Given the description of an element on the screen output the (x, y) to click on. 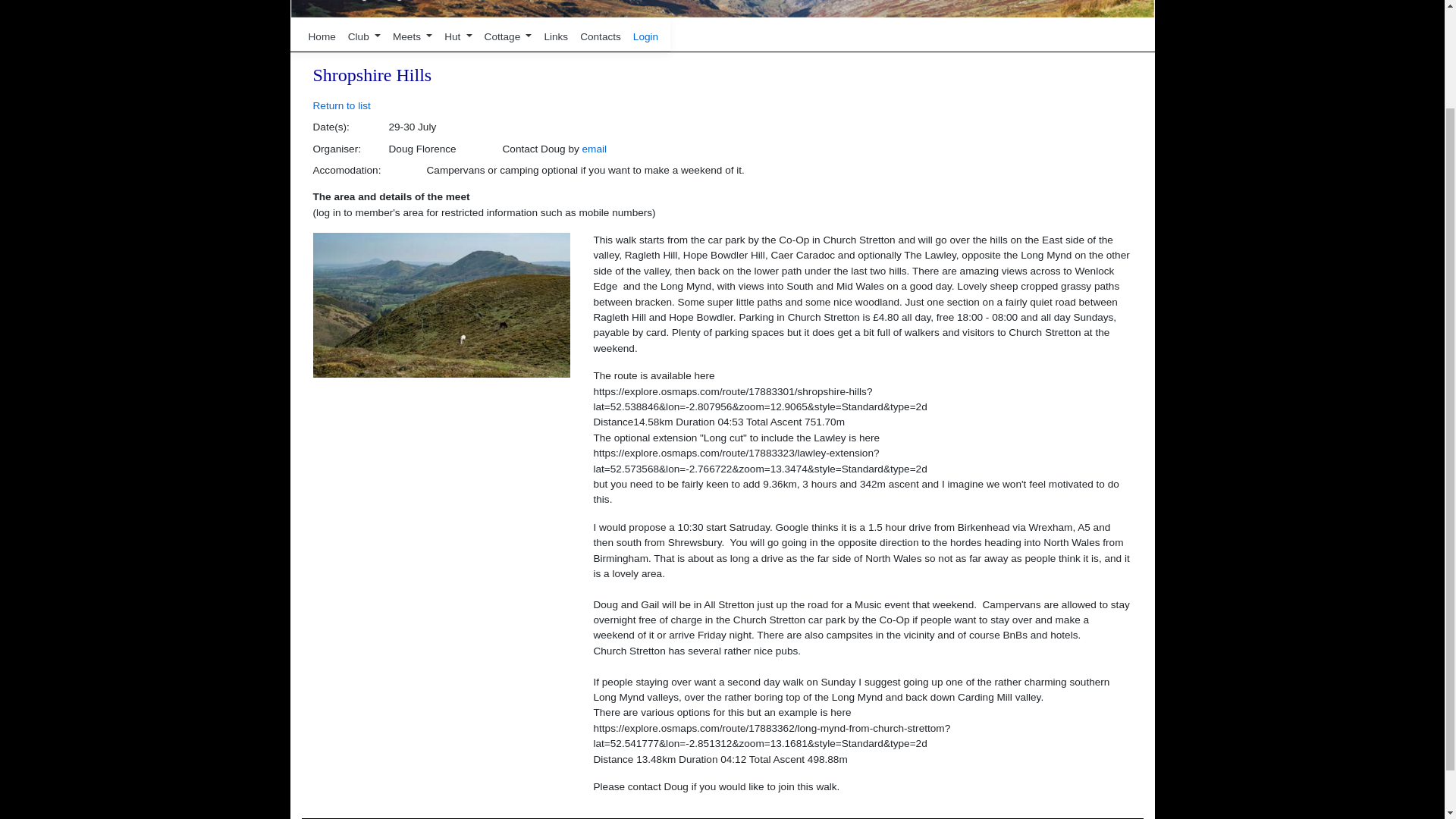
Hut (457, 36)
Meets (412, 36)
Home (320, 36)
email (594, 148)
Club (364, 36)
Return to list (341, 105)
Login (645, 36)
Cottage (508, 36)
Links (555, 36)
Contacts (600, 36)
